Given the description of an element on the screen output the (x, y) to click on. 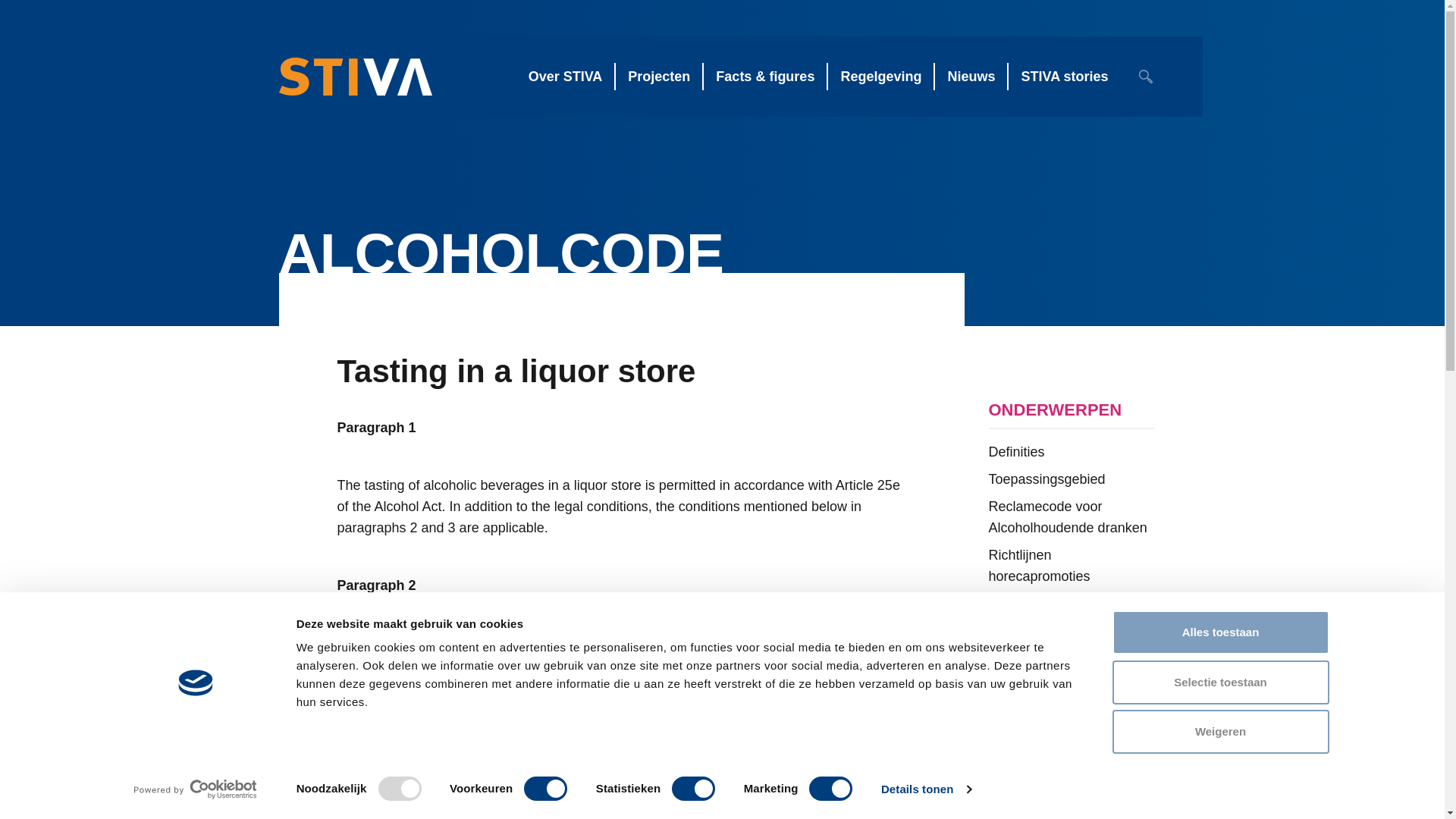
Projecten (658, 76)
Ga direct naar de content (24, 49)
Details tonen (925, 789)
Alles toestaan (1219, 632)
Over STIVA (565, 76)
Weigeren (1219, 731)
Selectie toestaan (1219, 681)
